Given the description of an element on the screen output the (x, y) to click on. 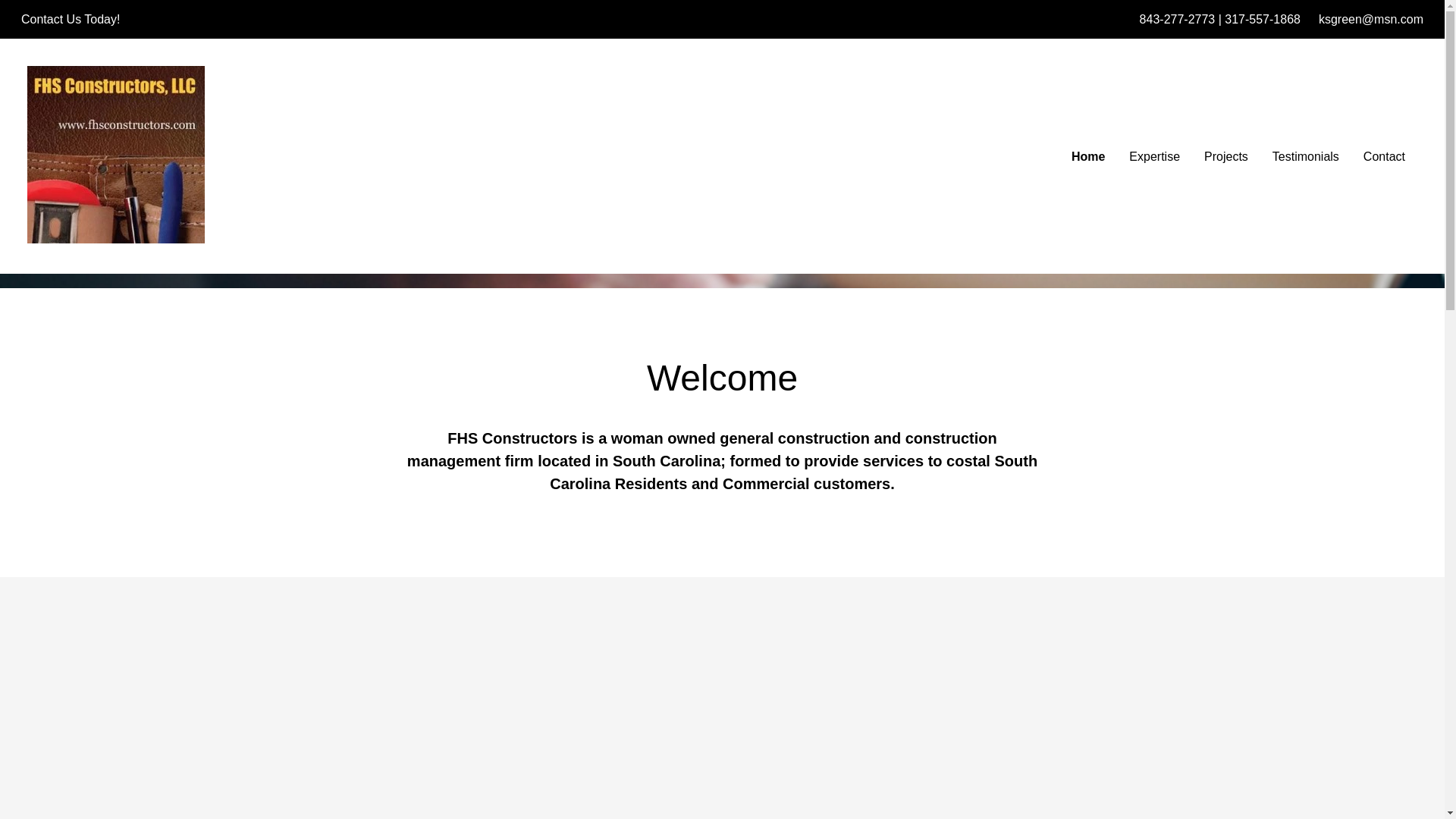
Projects (1226, 156)
Skip to main content (12, 12)
Testimonials (1305, 156)
Expertise (1154, 156)
Home (1087, 156)
Contact (1383, 156)
